Given the description of an element on the screen output the (x, y) to click on. 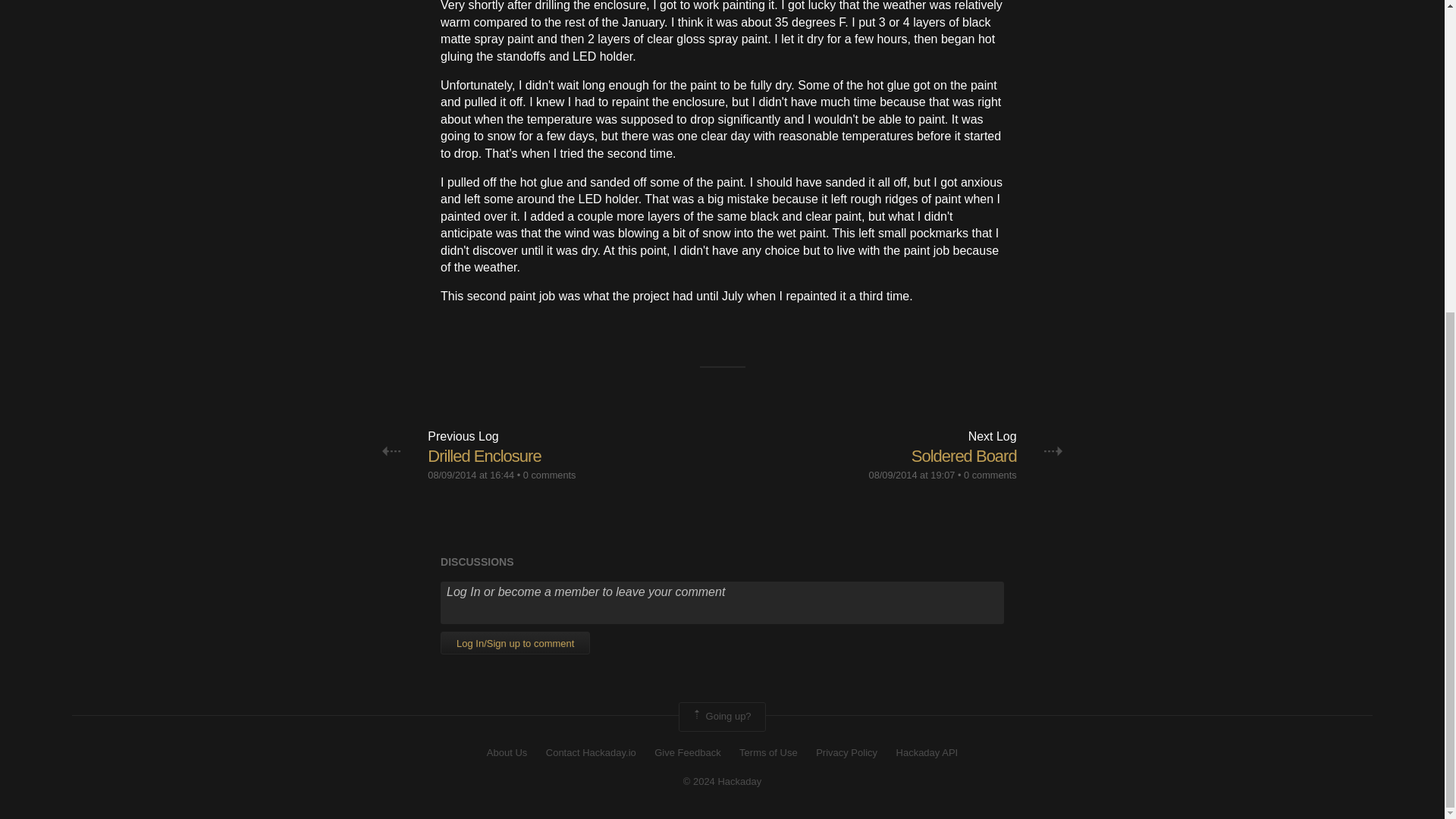
10 years ago (912, 474)
0 comments (549, 474)
10 years ago (470, 474)
0 comments (989, 474)
Going up? (721, 716)
Drilled Enclosure (484, 456)
Soldered Board (963, 456)
